Given the description of an element on the screen output the (x, y) to click on. 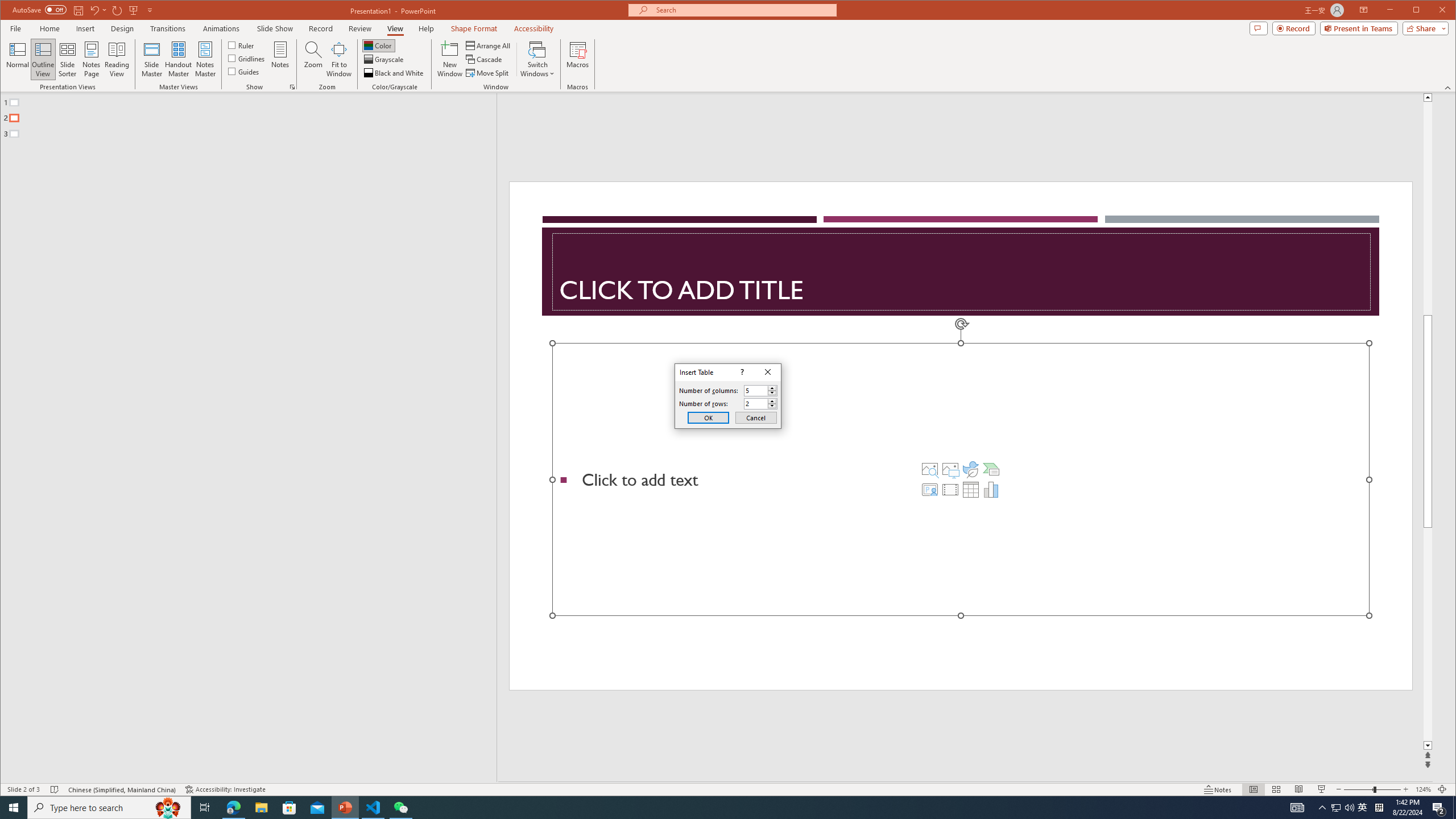
Context help (741, 371)
Grid Settings... (292, 86)
Cancel (756, 417)
Notification Chevron (1322, 807)
Pictures (949, 469)
Insert Table (970, 489)
Insert Video (949, 489)
File Explorer (261, 807)
